Given the description of an element on the screen output the (x, y) to click on. 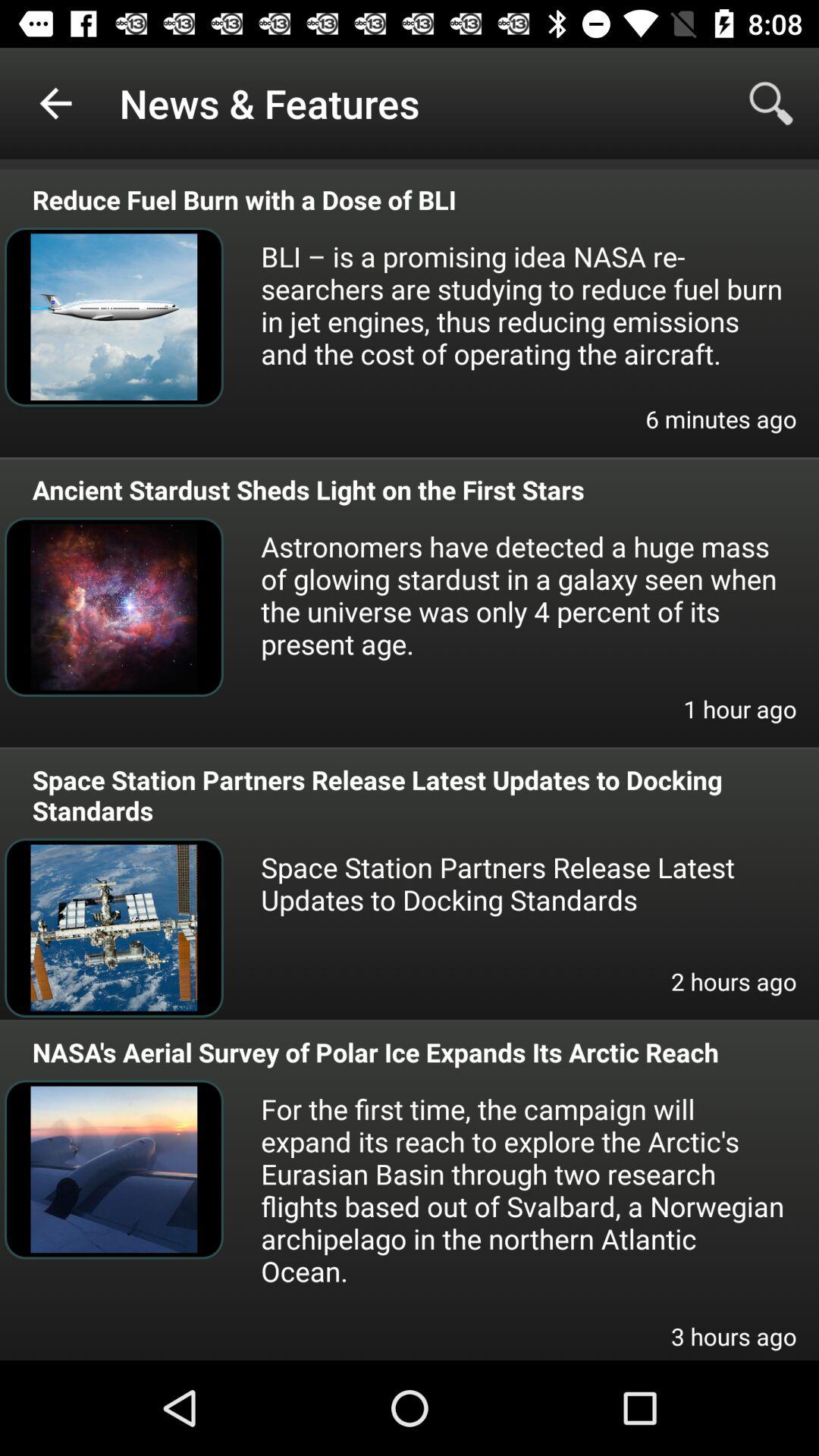
choose 1 hour ago icon (739, 718)
